Given the description of an element on the screen output the (x, y) to click on. 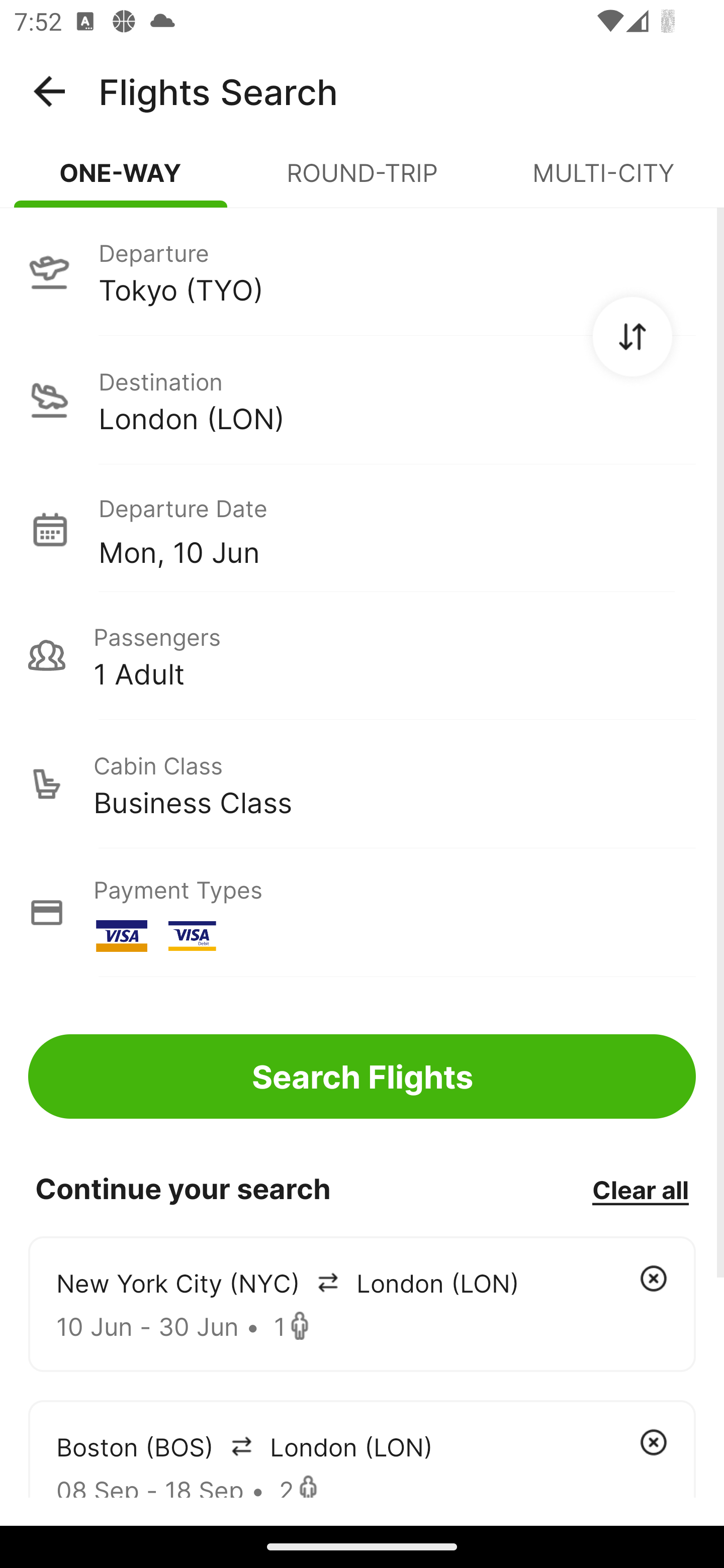
ONE-WAY (120, 180)
ROUND-TRIP (361, 180)
MULTI-CITY (603, 180)
Departure Tokyo (TYO) (362, 270)
Destination London (LON) (362, 400)
Departure Date Mon, 10 Jun (396, 528)
Passengers 1 Adult (362, 655)
Cabin Class Business Class (362, 783)
Payment Types (362, 912)
Search Flights (361, 1075)
Clear all (640, 1189)
